Given the description of an element on the screen output the (x, y) to click on. 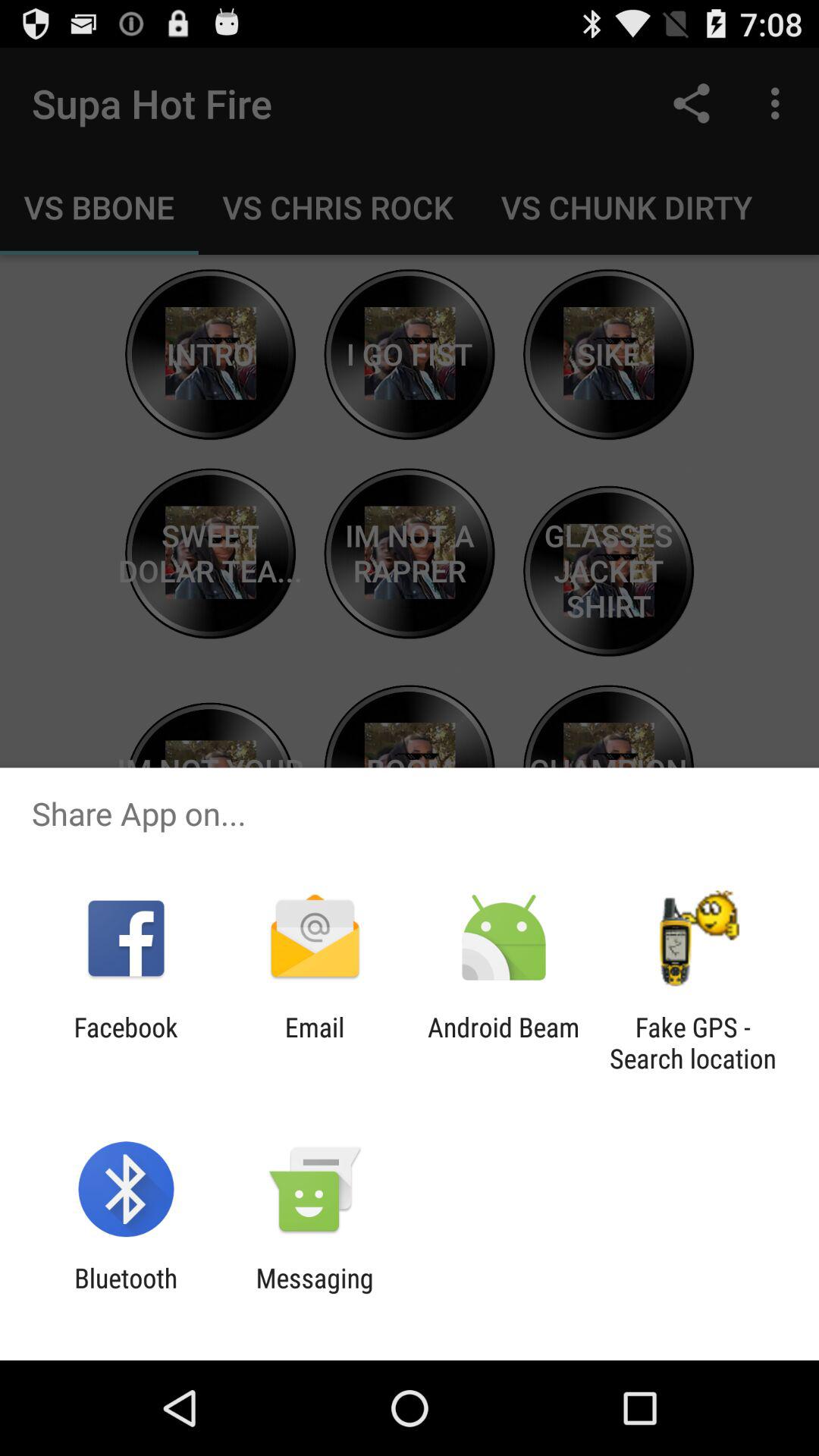
jump until the fake gps search item (692, 1042)
